Given the description of an element on the screen output the (x, y) to click on. 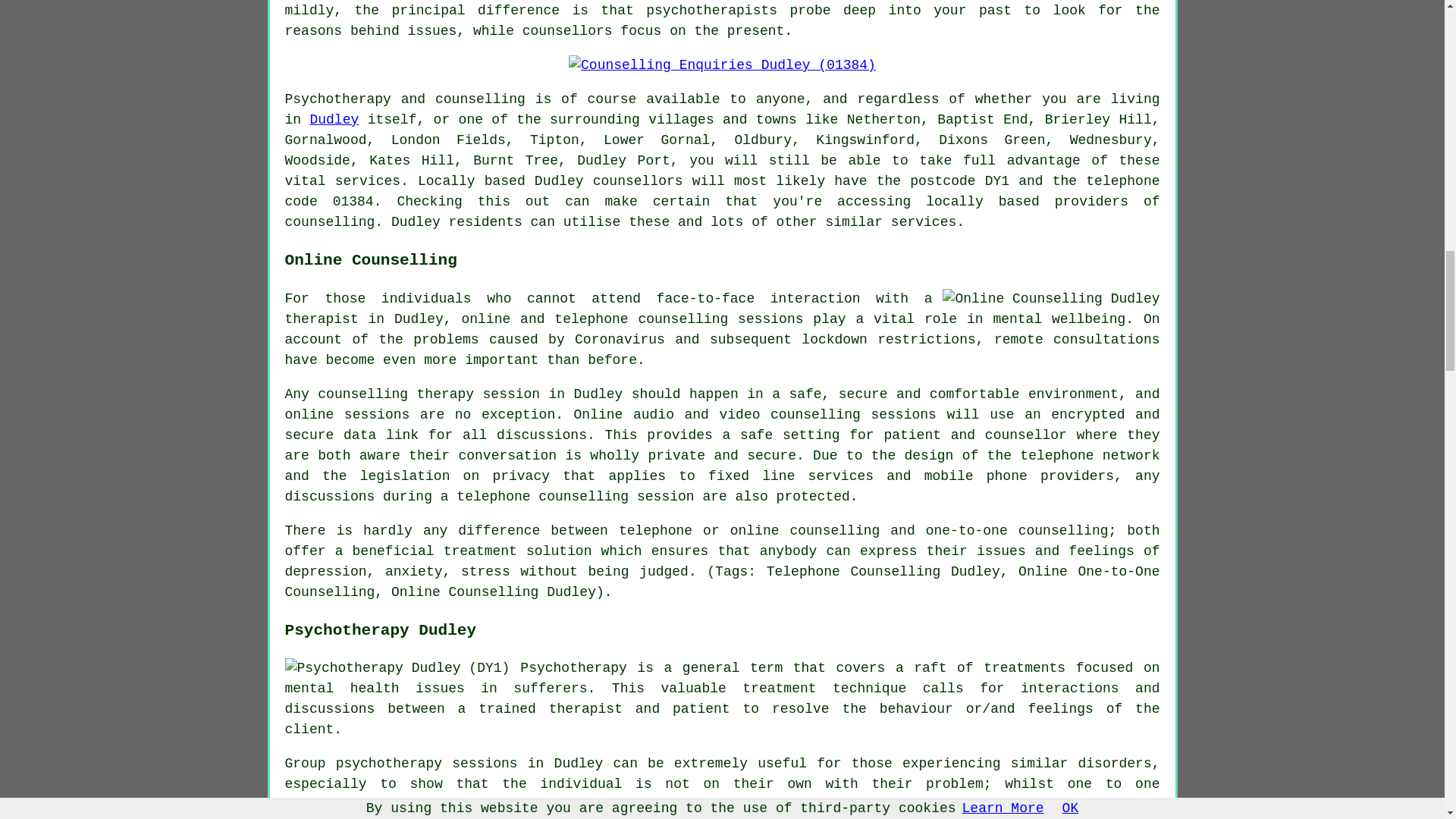
Online Counselling (1050, 298)
